Given the description of an element on the screen output the (x, y) to click on. 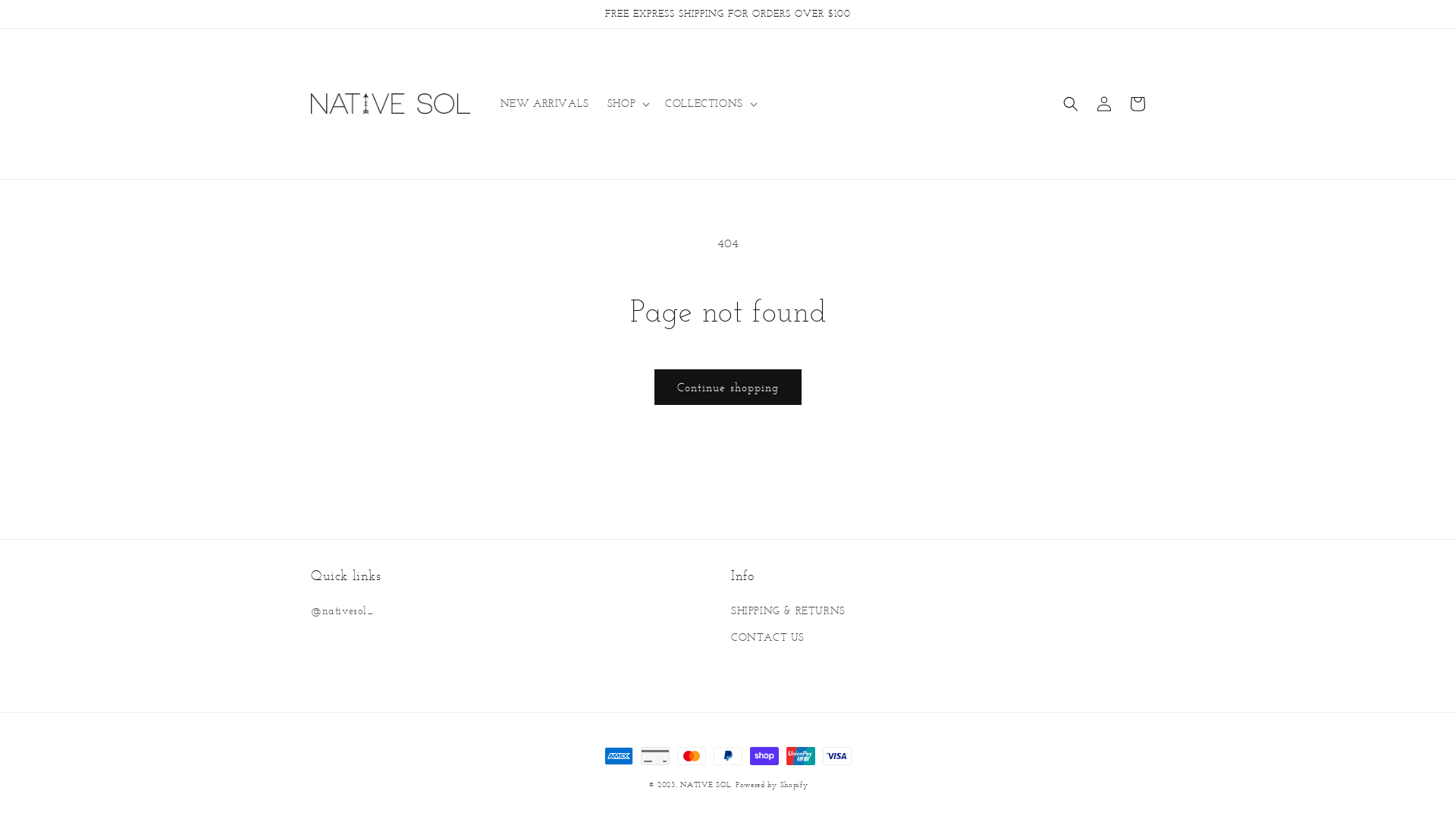
SHIPPING & RETURNS Element type: text (788, 612)
@nativesol_ Element type: text (341, 612)
Powered by Shopify Element type: text (771, 784)
Cart Element type: text (1137, 103)
Continue shopping Element type: text (727, 386)
NATIVE SOL Element type: text (705, 784)
NEW ARRIVALS Element type: text (544, 103)
Log in Element type: text (1103, 103)
CONTACT US Element type: text (767, 637)
